Given the description of an element on the screen output the (x, y) to click on. 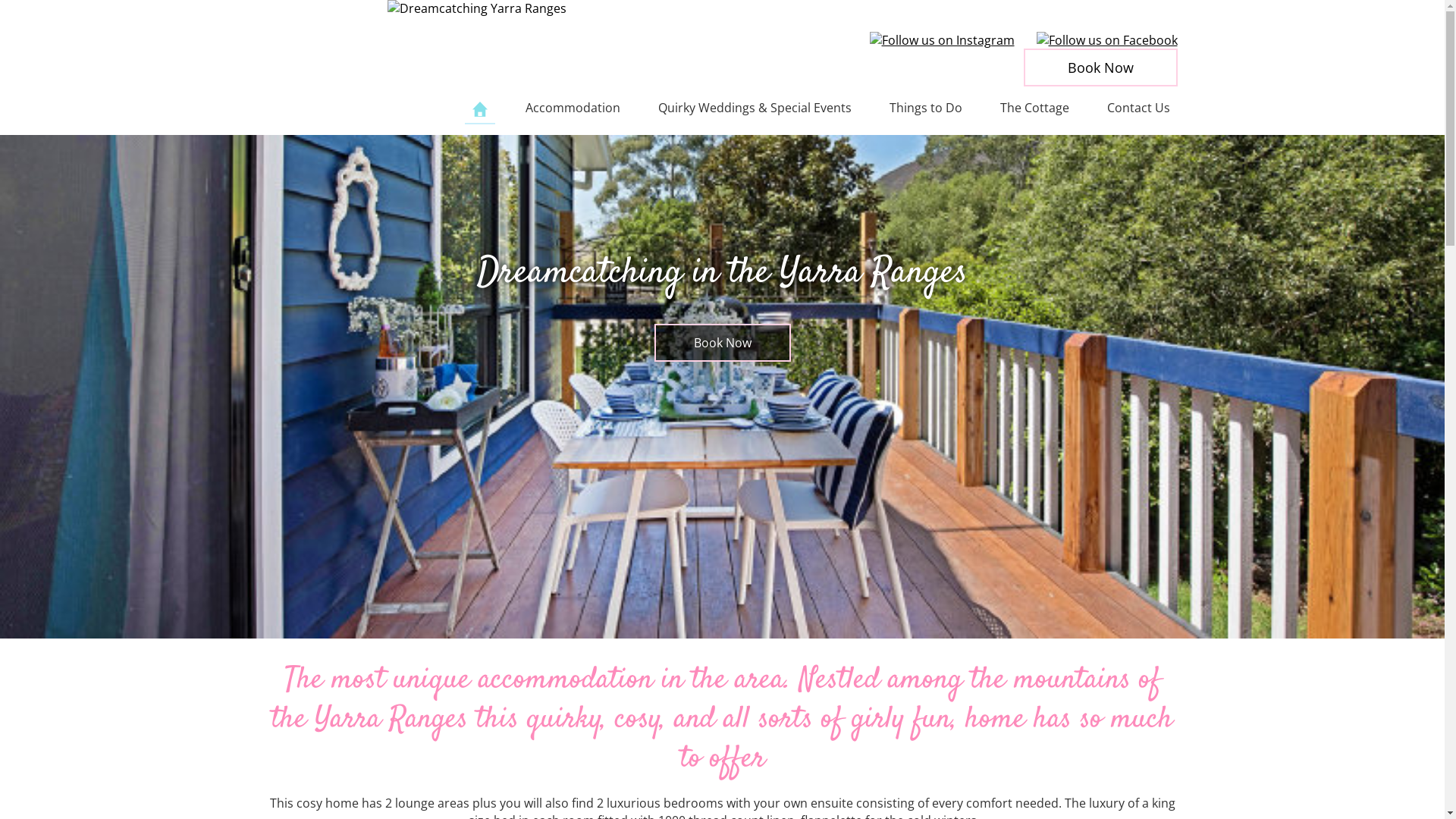
Home Element type: text (479, 112)
Things to Do Element type: text (925, 111)
Accommodation Element type: text (572, 111)
Contact Us Element type: text (1138, 111)
Quirky Weddings & Special Events Element type: text (754, 111)
The Cottage Element type: text (1033, 111)
Book Now Element type: text (1100, 67)
Book Now Element type: text (721, 342)
